Given the description of an element on the screen output the (x, y) to click on. 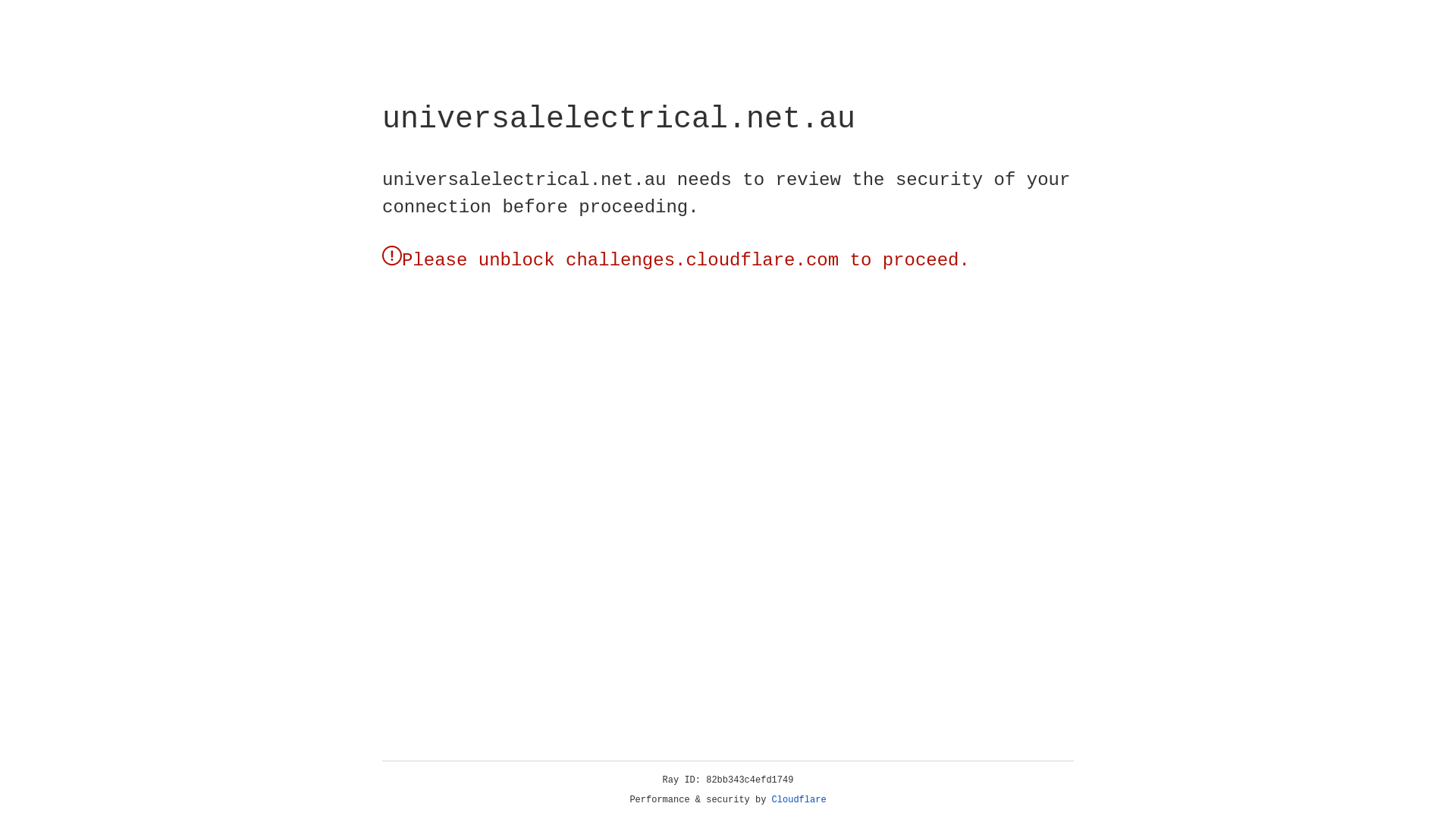
Cloudflare Element type: text (798, 799)
